Given the description of an element on the screen output the (x, y) to click on. 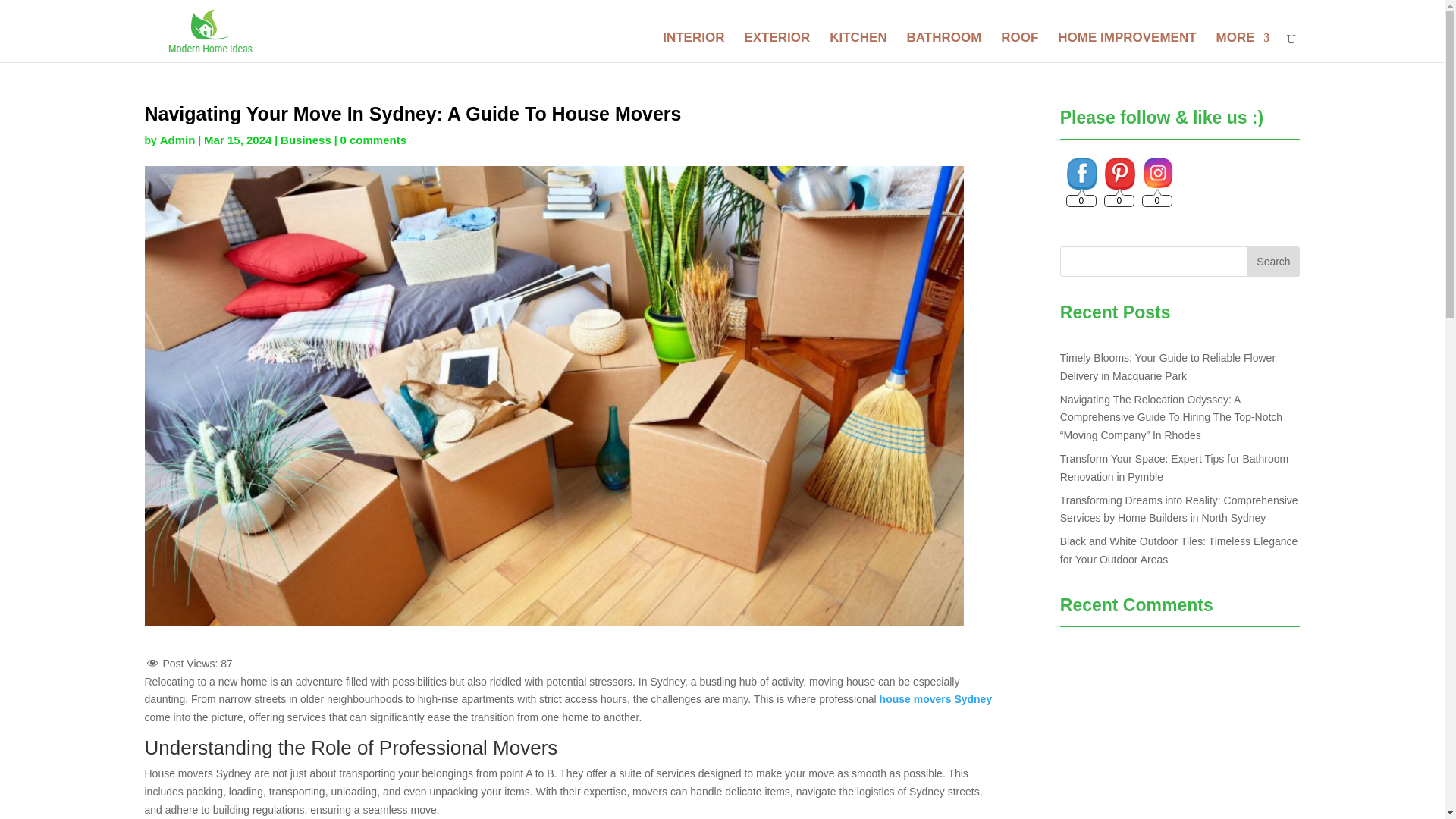
KITCHEN (857, 47)
BATHROOM (944, 47)
0 comments (372, 139)
MORE (1242, 47)
Facebook (1082, 174)
HOME IMPROVEMENT (1126, 47)
Search (1273, 261)
Admin (177, 139)
ROOF (1019, 47)
Business (306, 139)
